Given the description of an element on the screen output the (x, y) to click on. 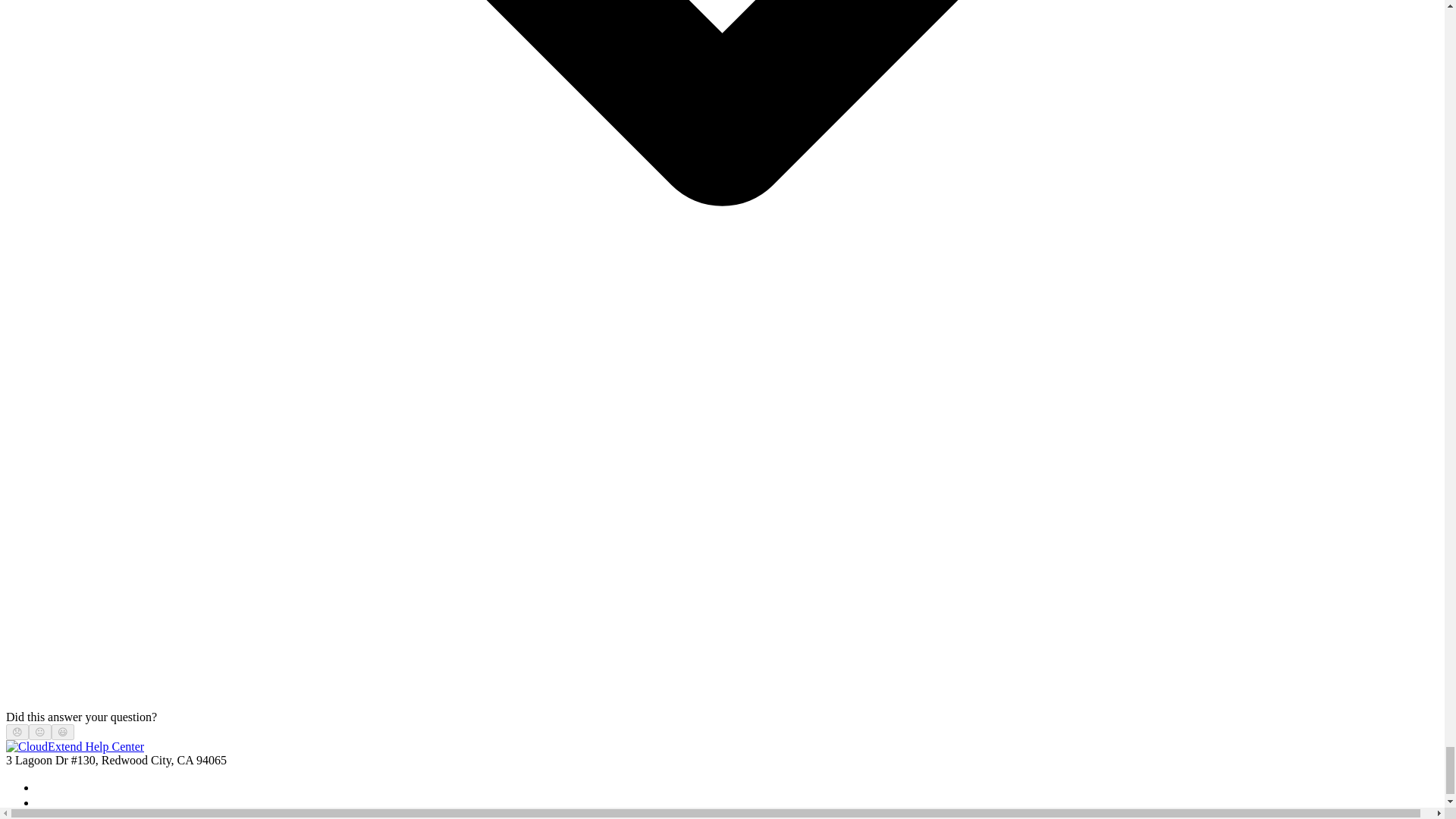
Smiley (63, 731)
Disappointed (17, 731)
Neutral (39, 731)
